Given the description of an element on the screen output the (x, y) to click on. 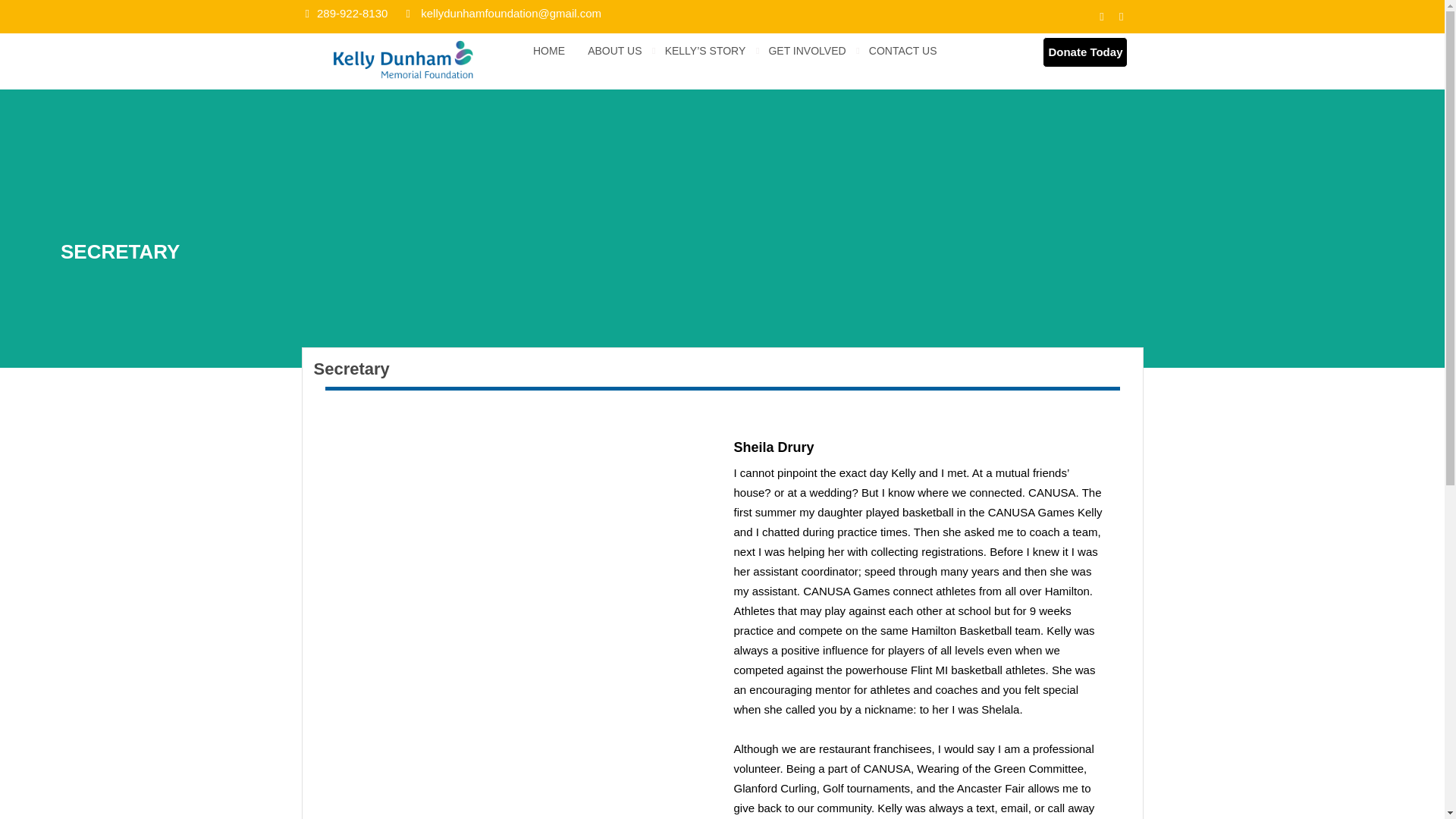
ABOUT US (615, 50)
Donate Today (1084, 51)
289-922-8130 (346, 12)
GET INVOLVED (806, 50)
CONTACT US (903, 50)
HOME (548, 50)
